Given the description of an element on the screen output the (x, y) to click on. 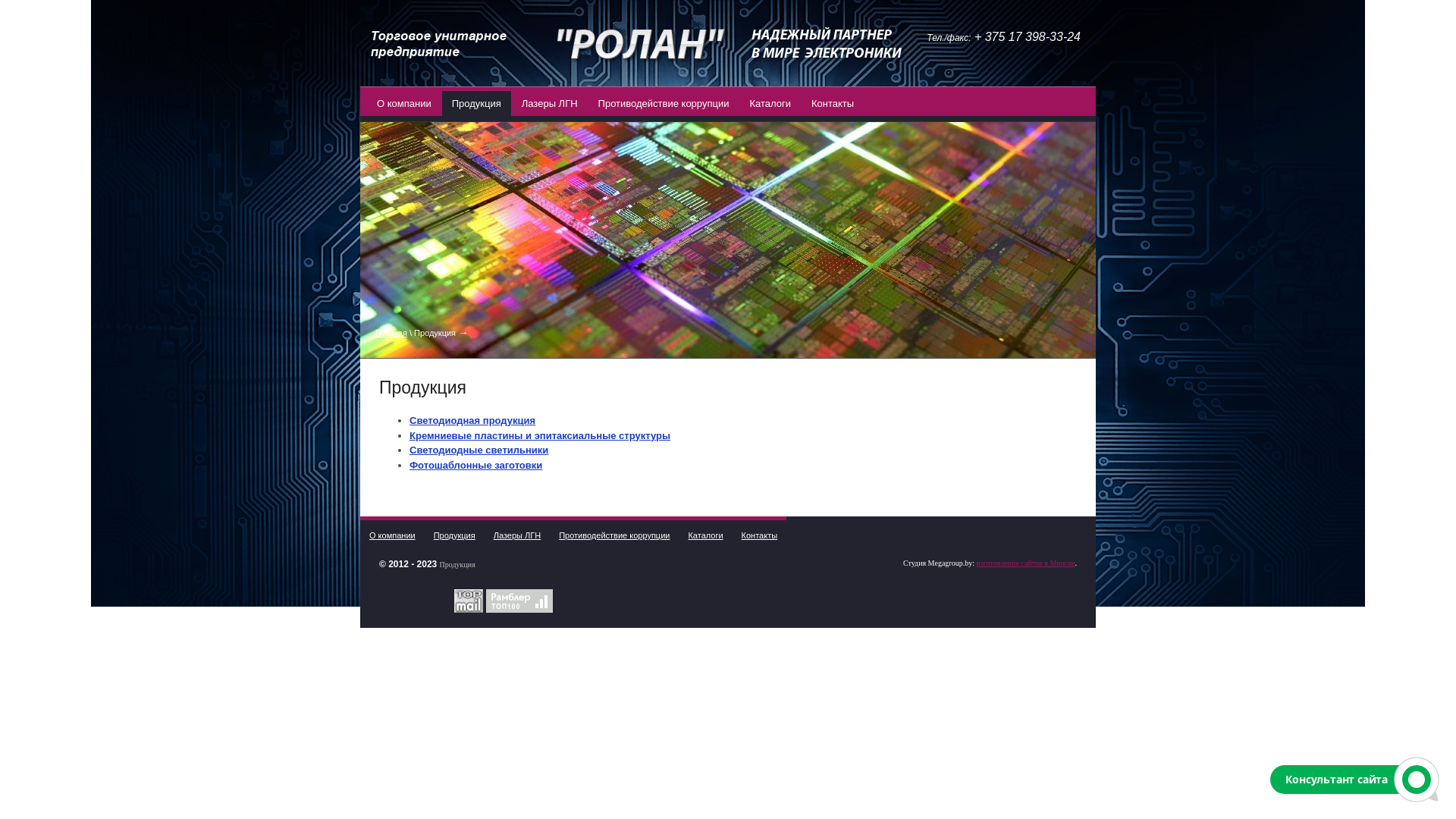
Rambler's Top100 Element type: hover (519, 600)
